Given the description of an element on the screen output the (x, y) to click on. 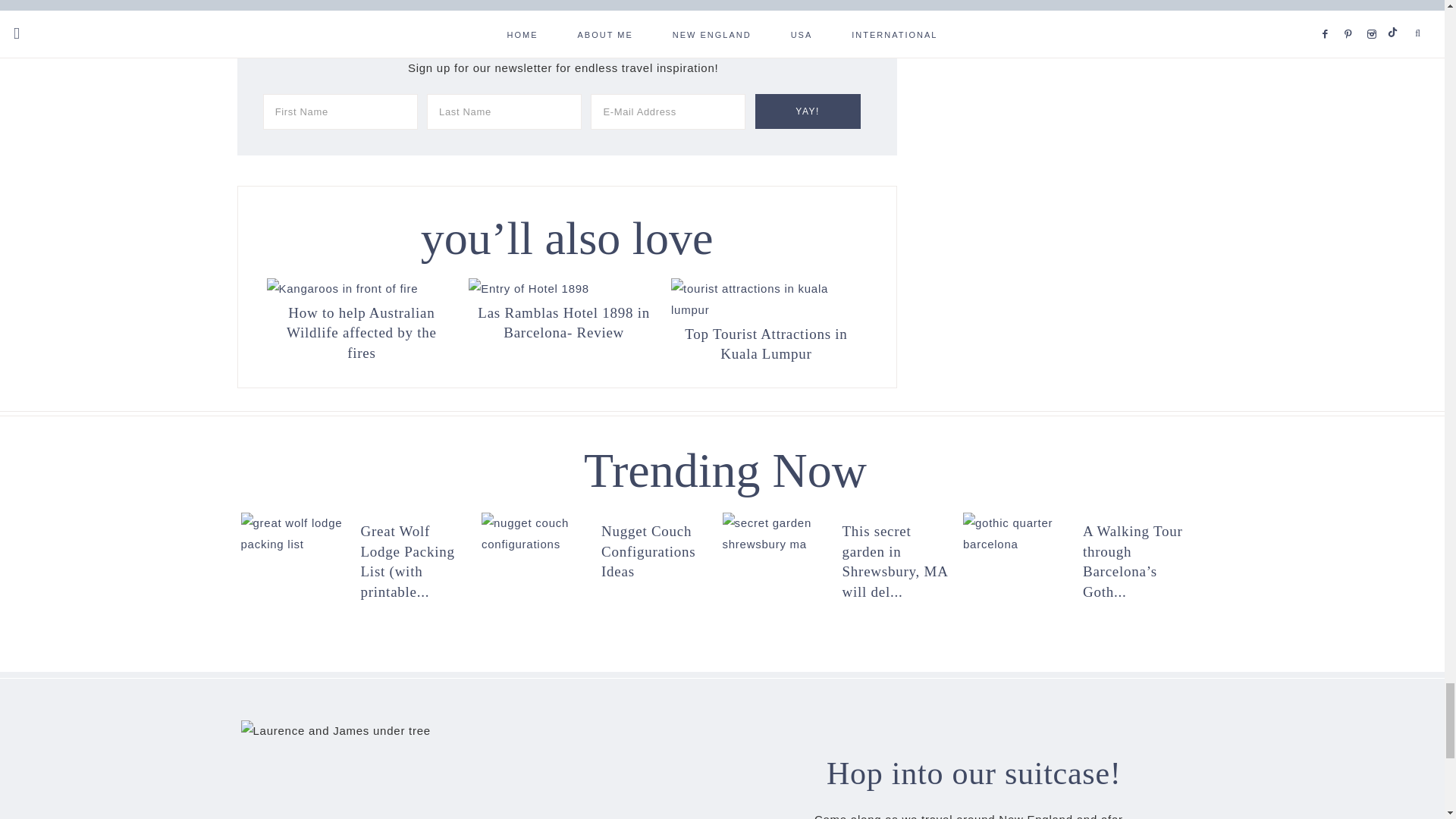
YAY! (807, 111)
